Given the description of an element on the screen output the (x, y) to click on. 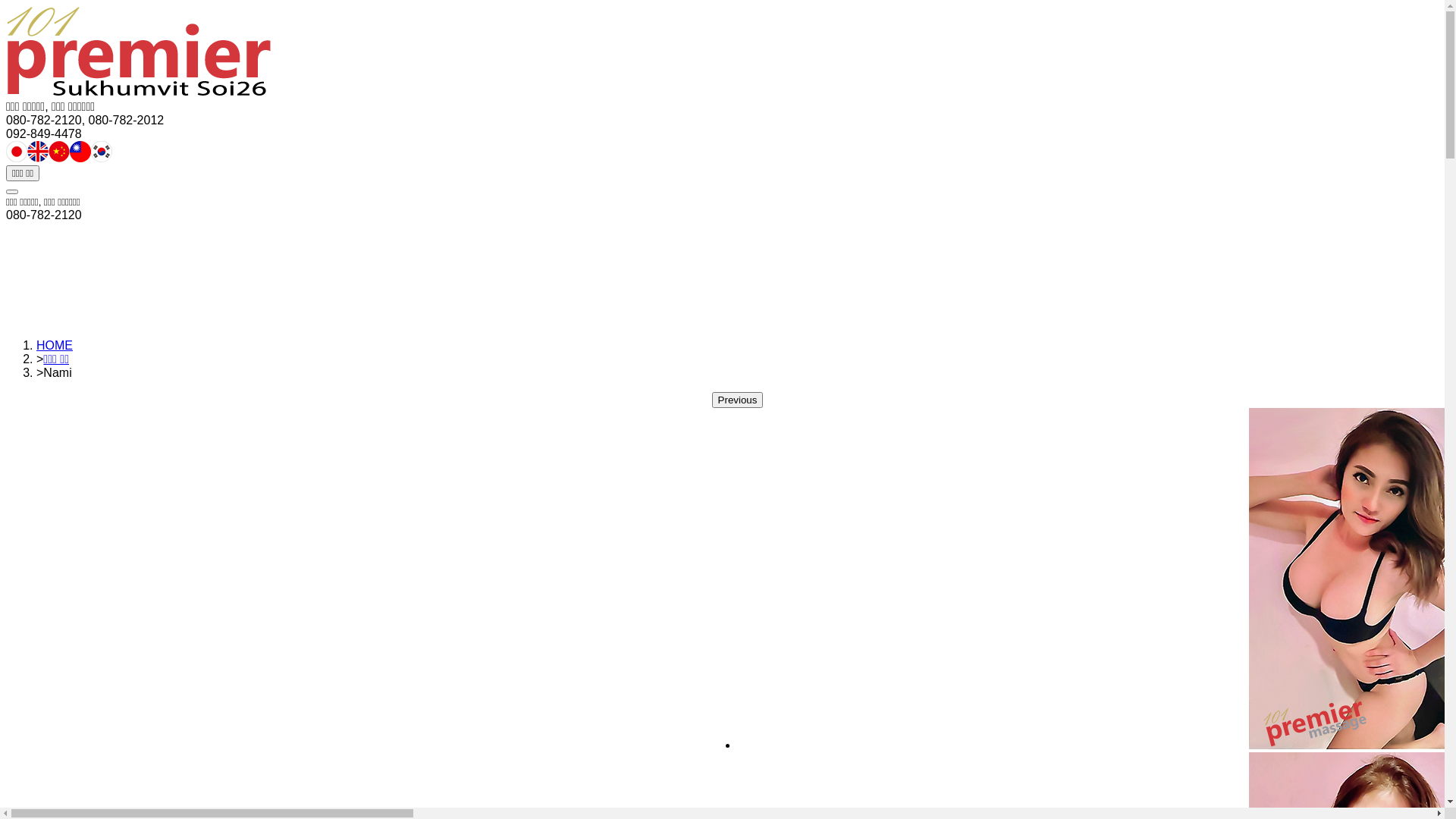
Previous Element type: text (737, 399)
English Element type: text (722, 232)
HOME Element type: text (54, 344)
